Given the description of an element on the screen output the (x, y) to click on. 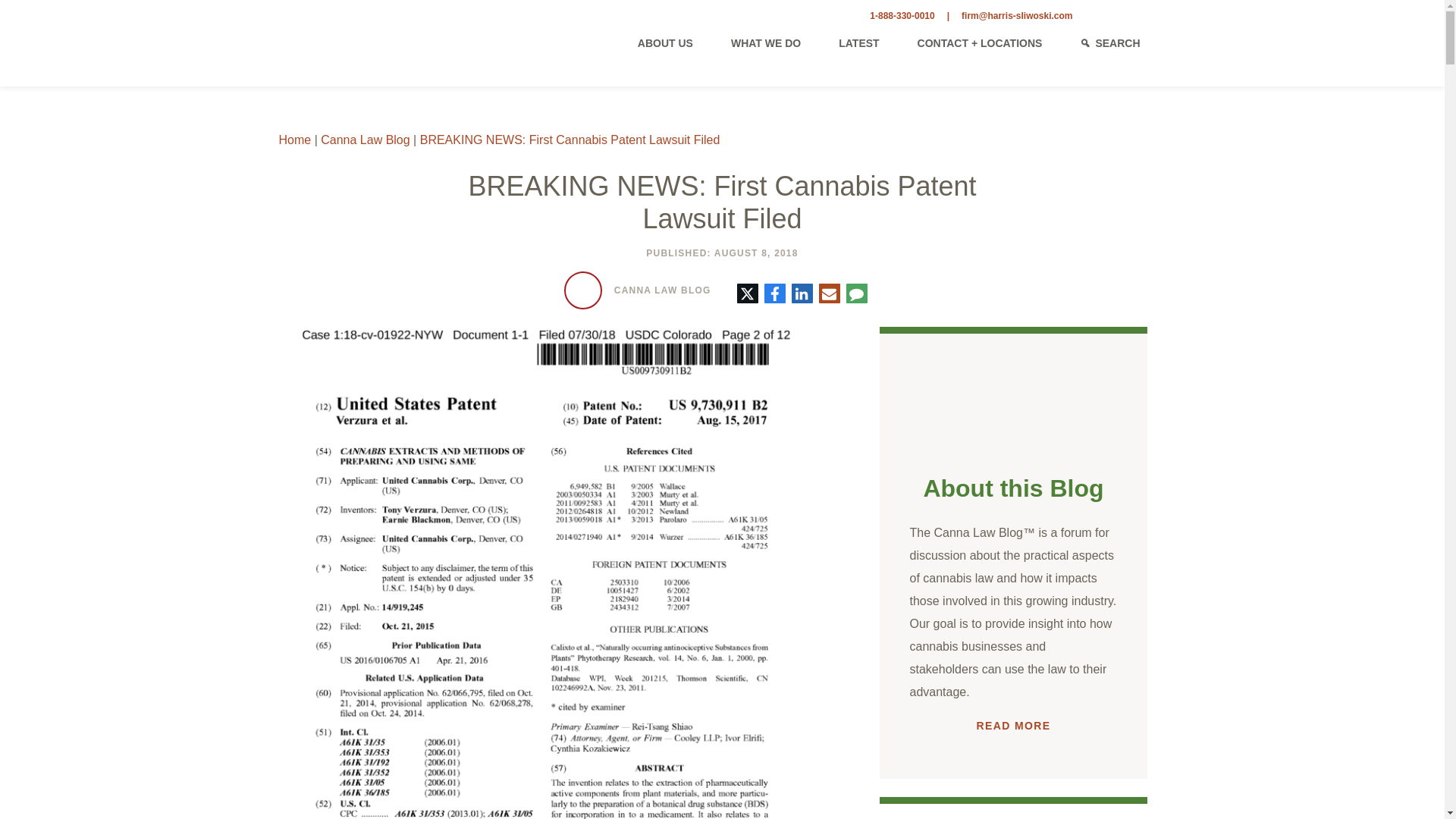
ABOUT US (664, 39)
1-888-330-0010 (901, 15)
LATEST (858, 39)
WHAT WE DO (765, 39)
